Given the description of an element on the screen output the (x, y) to click on. 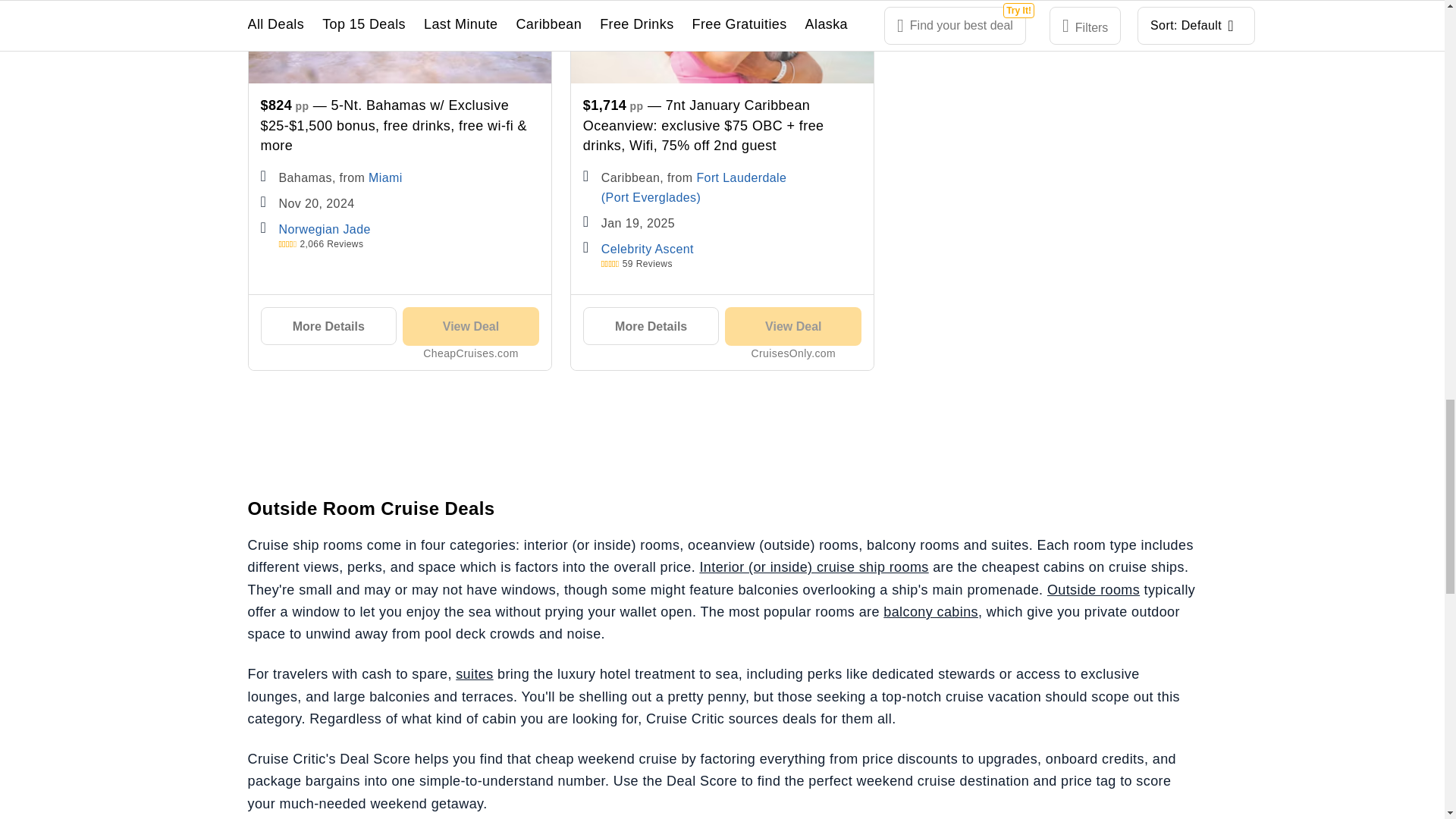
CRM-US-Deals-Sub-Acq-Banner-October-261382 (721, 442)
